Given the description of an element on the screen output the (x, y) to click on. 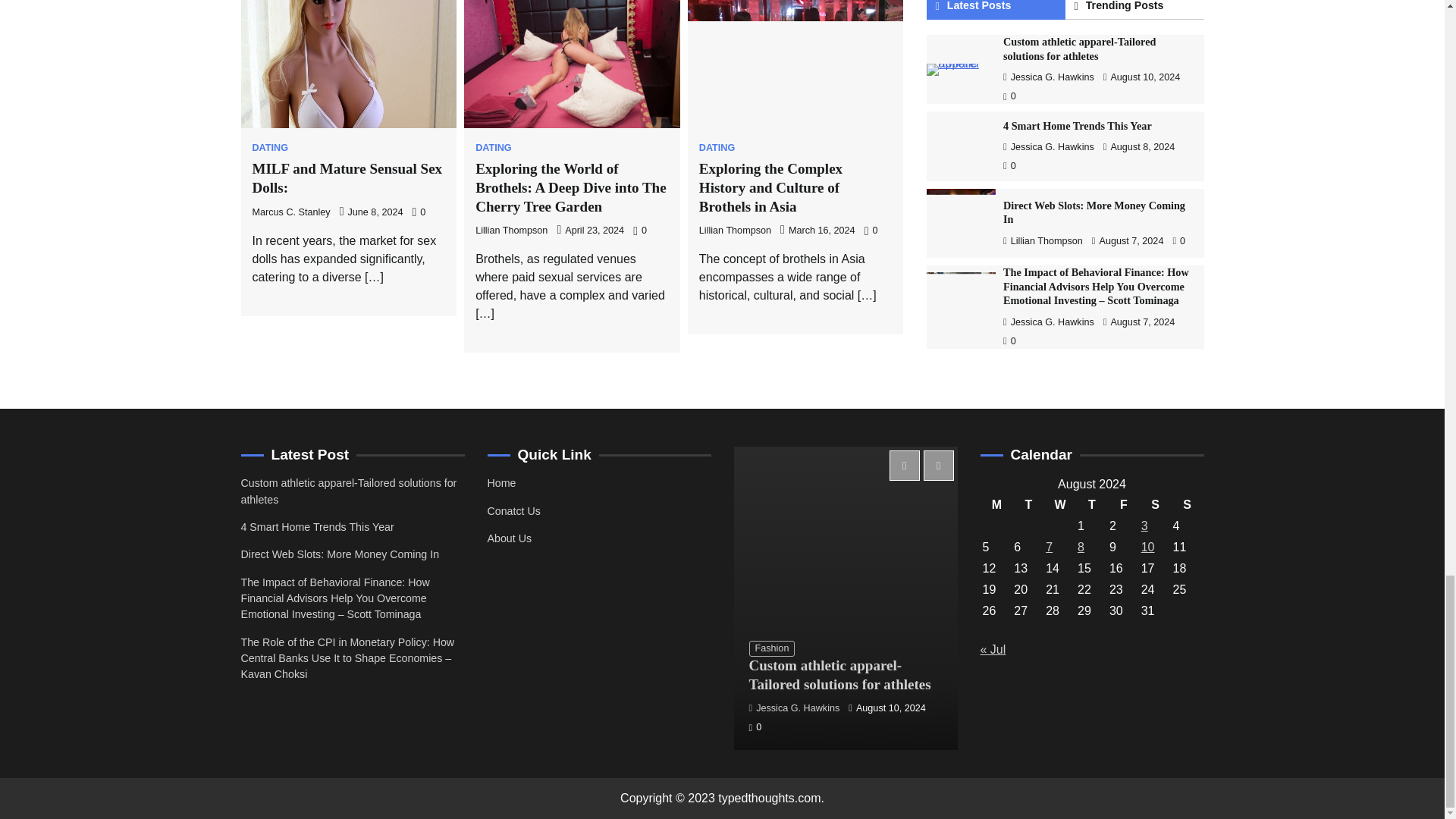
Thursday (1091, 505)
DATING (268, 148)
Marcus C. Stanley (290, 212)
Tuesday (1028, 505)
Wednesday (1060, 505)
Saturday (1155, 505)
MILF and Mature Sensual Sex Dolls: (346, 177)
Monday (996, 505)
